Given the description of an element on the screen output the (x, y) to click on. 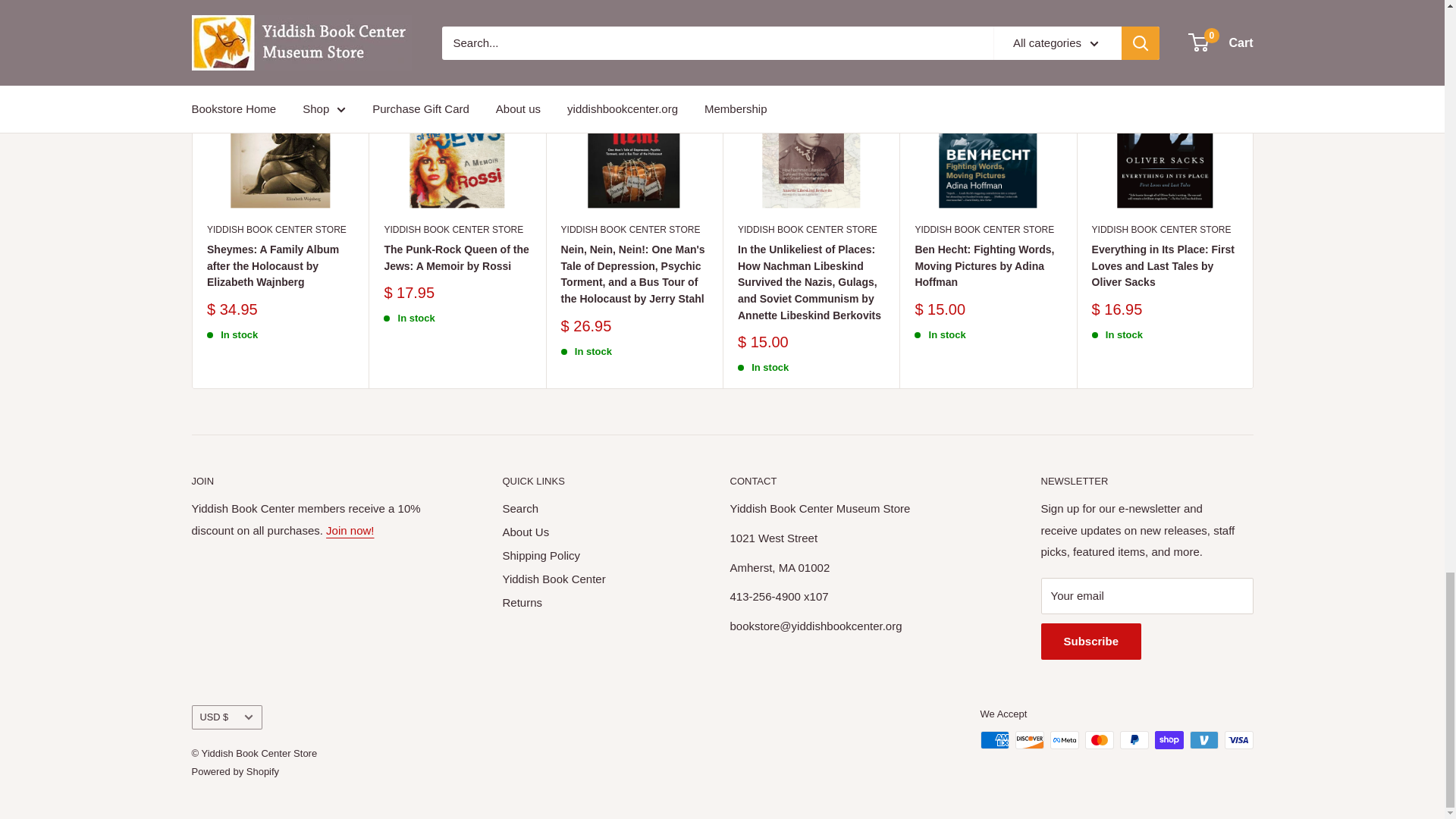
Become a Member (350, 530)
